Given the description of an element on the screen output the (x, y) to click on. 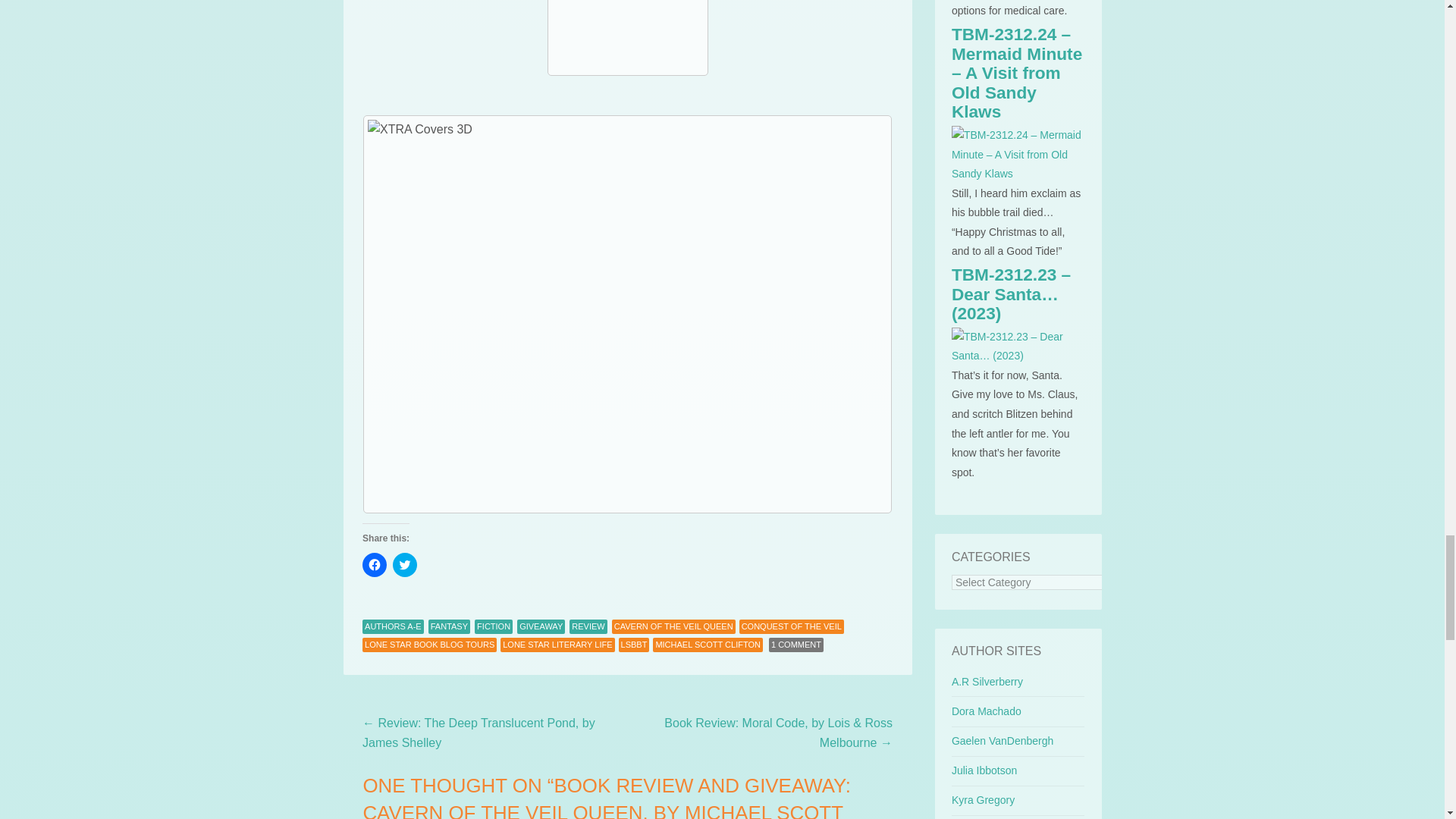
Click to share on Twitter (404, 564)
Click to share on Facebook (374, 564)
